Given the description of an element on the screen output the (x, y) to click on. 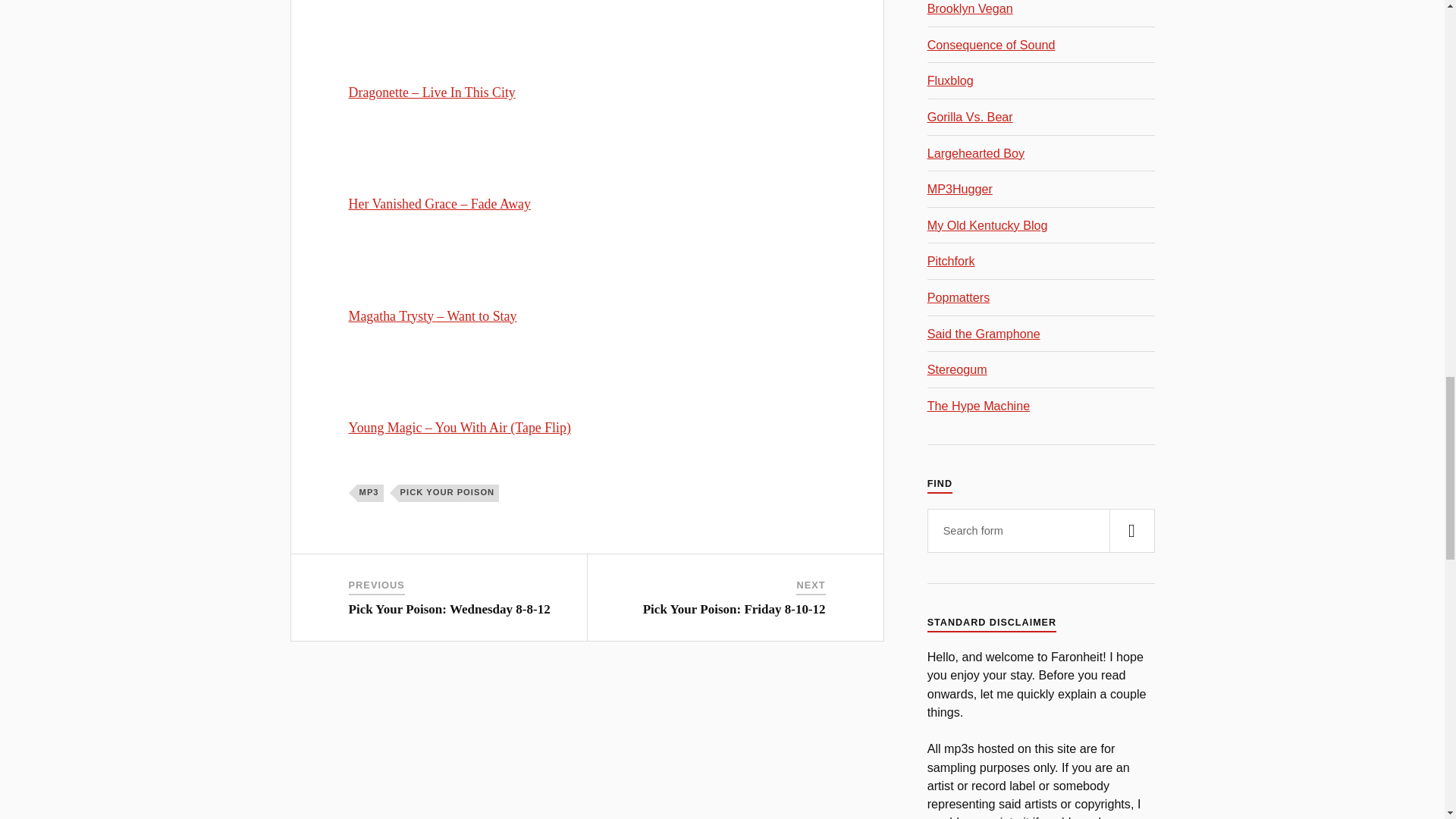
My goal is to turn him into Brooklyn Meateater (970, 8)
Stream songs and check out music blogs (978, 405)
The first-ever music blog (950, 79)
PICK YOUR POISON (448, 492)
Pick Your Poison: Wednesday 8-8-12 (449, 608)
Chew on this (957, 368)
Hugs first, mp3s after.  (959, 188)
Links and downloads galore (976, 152)
Pick Your Poison: Friday 8-10-12 (734, 608)
Music news and festival rumors (991, 44)
Pretentious much? (951, 260)
MP3 (370, 492)
The bear would totally win (970, 116)
